Given the description of an element on the screen output the (x, y) to click on. 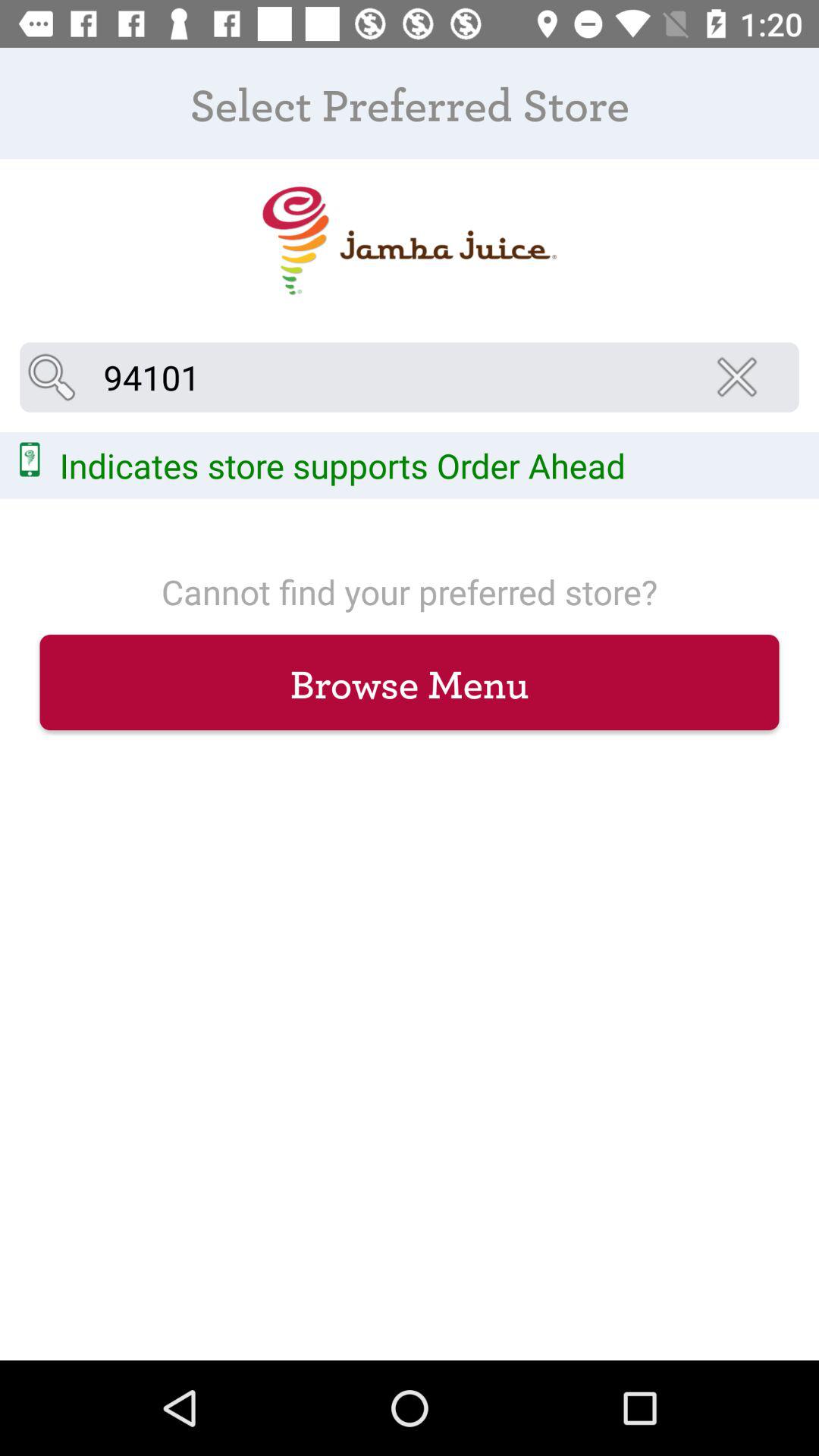
open the icon below the select preferred store (742, 376)
